Given the description of an element on the screen output the (x, y) to click on. 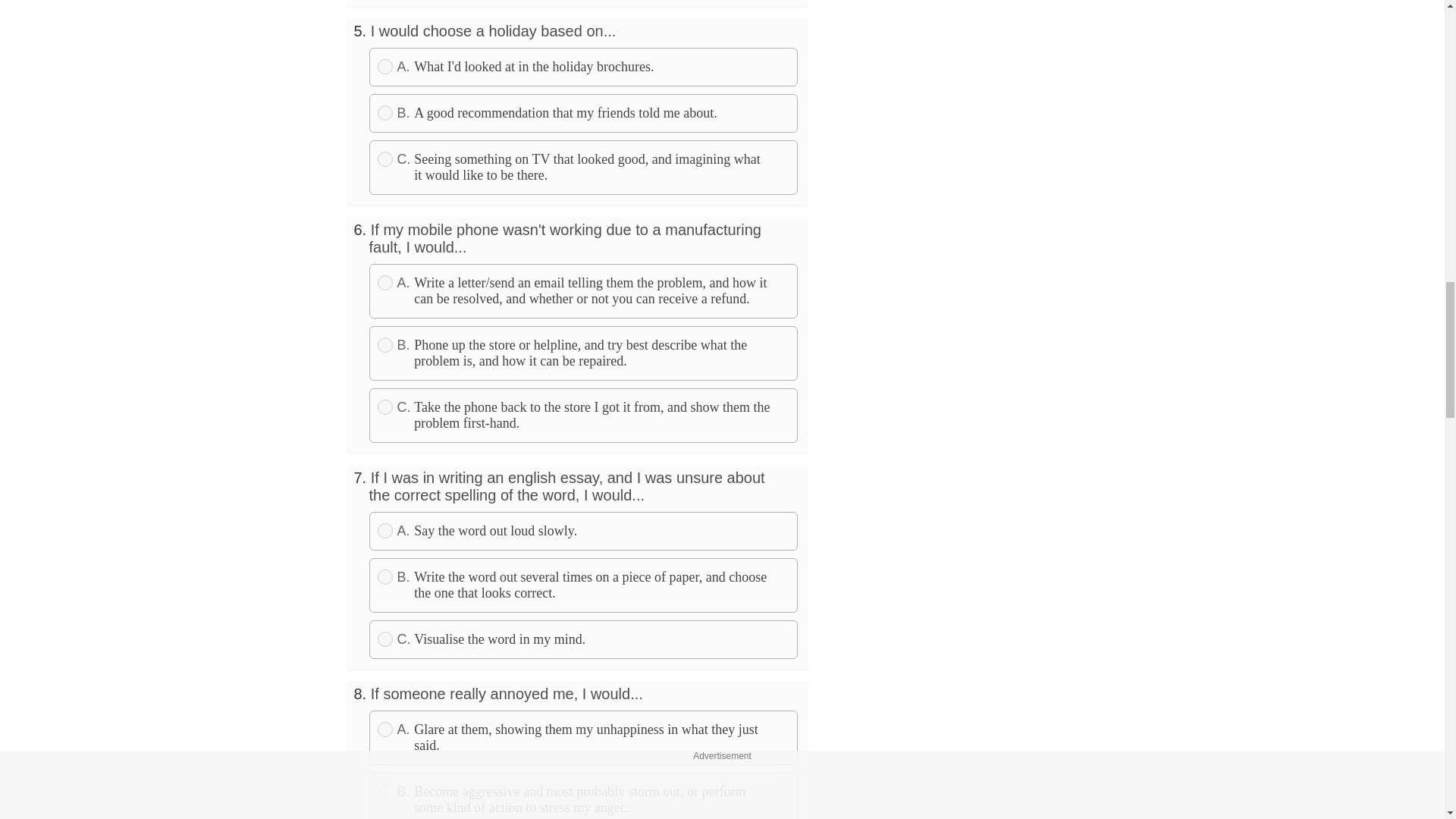
on (385, 112)
on (385, 406)
on (385, 344)
on (385, 530)
on (385, 282)
on (385, 66)
on (385, 159)
